Given the description of an element on the screen output the (x, y) to click on. 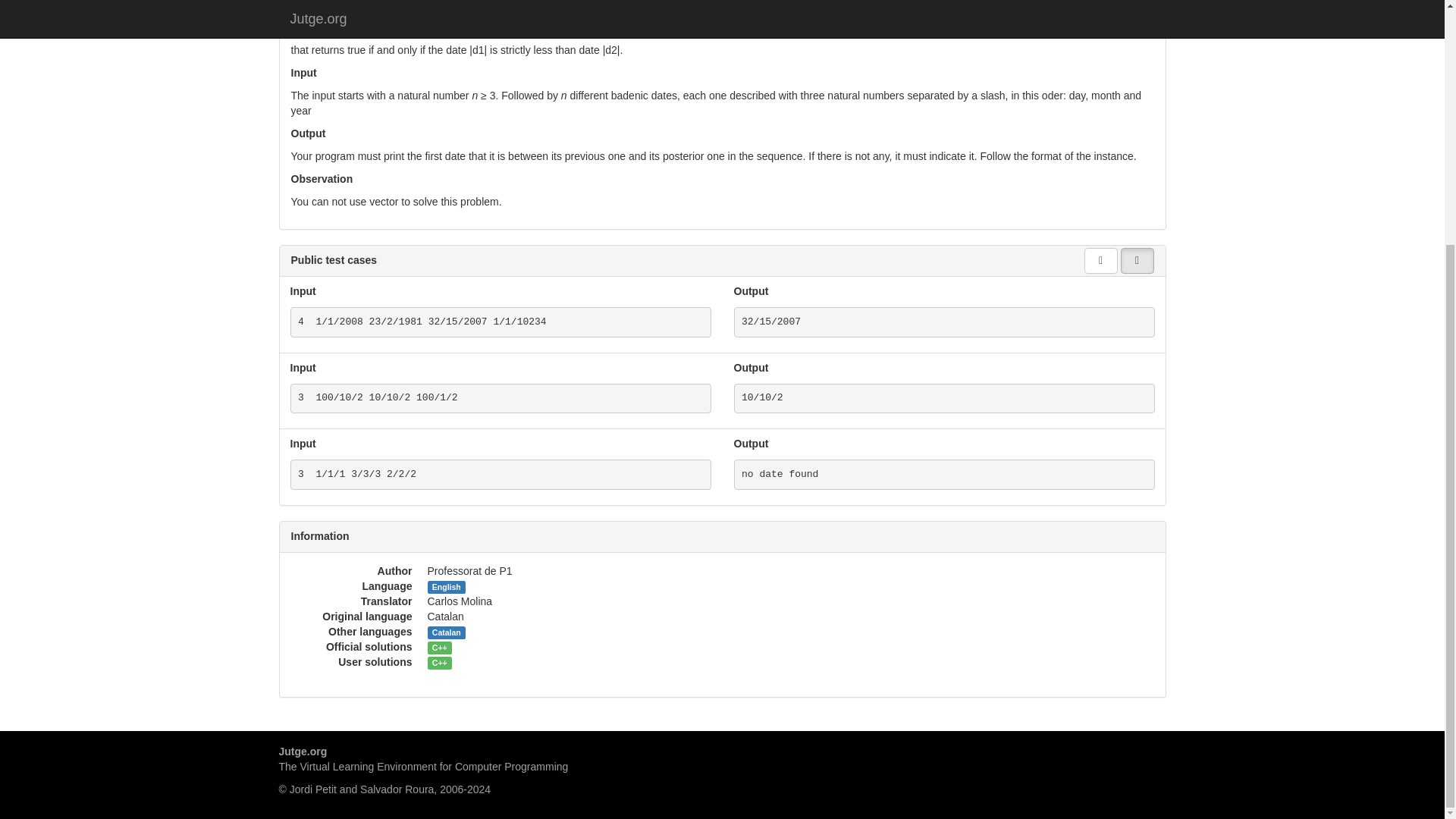
Switch view (1137, 260)
no date found (943, 474)
Catalan (446, 632)
